Given the description of an element on the screen output the (x, y) to click on. 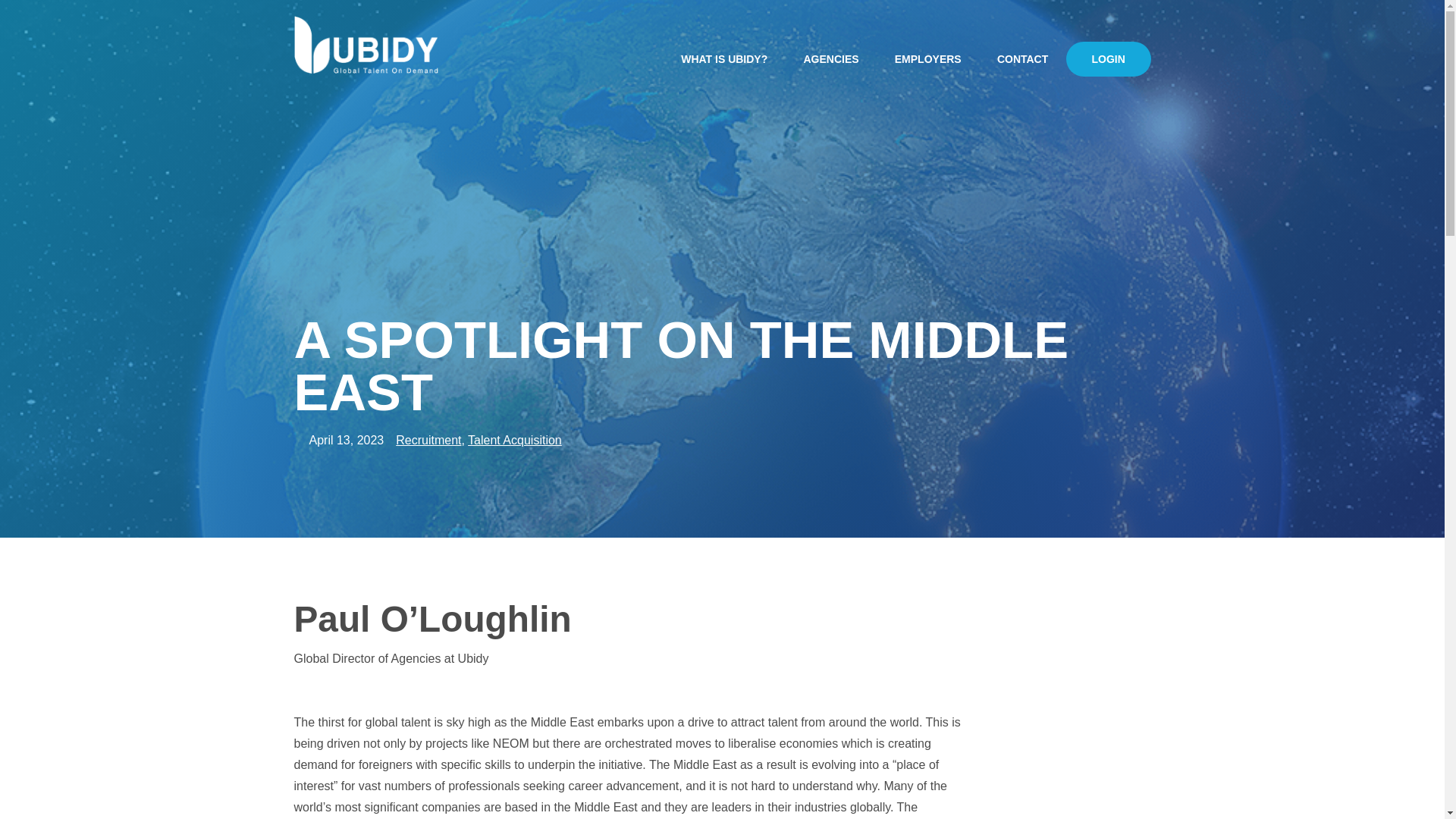
AGENCIES (831, 42)
Recruitment (428, 440)
Talent Acquisition (514, 440)
WHAT IS UBIDY? (724, 42)
LOGIN (1108, 42)
EMPLOYERS (927, 42)
CONTACT (1021, 42)
